Given the description of an element on the screen output the (x, y) to click on. 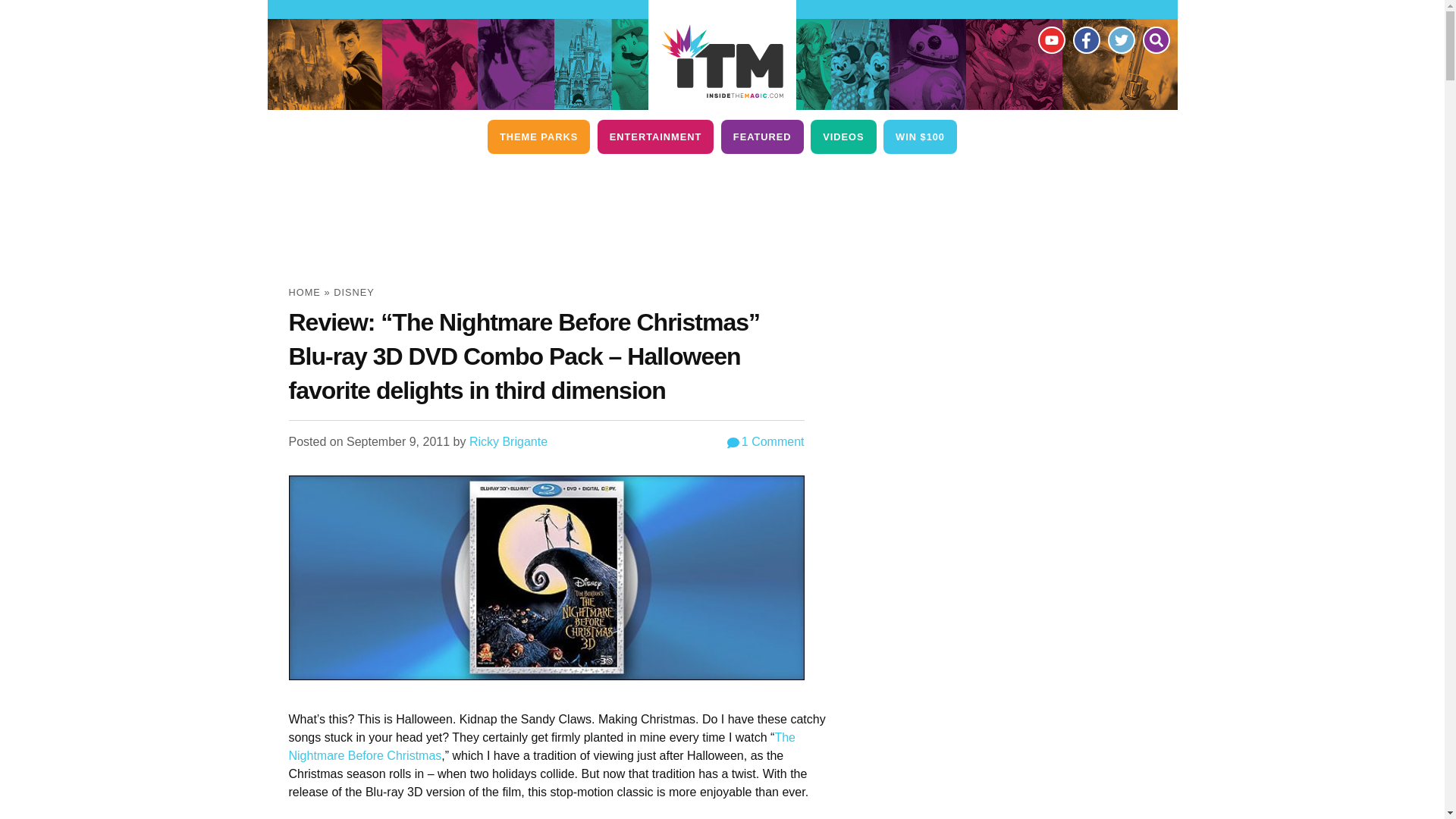
Search (1155, 40)
Twitter (1120, 40)
THEME PARKS (538, 136)
ENTERTAINMENT (655, 136)
YouTube (1050, 40)
FEATURED (761, 136)
Facebook (1085, 40)
